Given the description of an element on the screen output the (x, y) to click on. 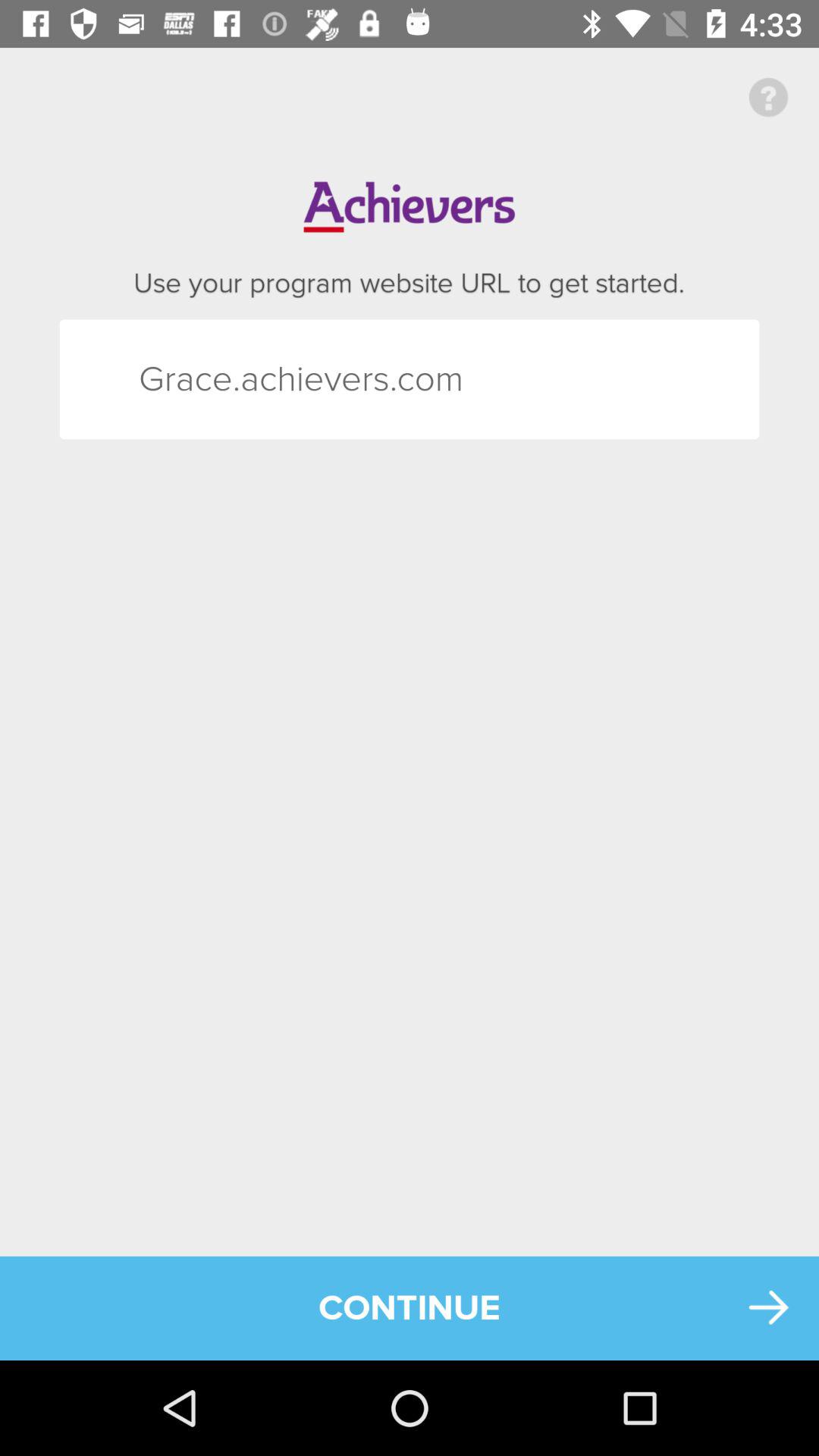
turn off icon below grace item (409, 1308)
